Given the description of an element on the screen output the (x, y) to click on. 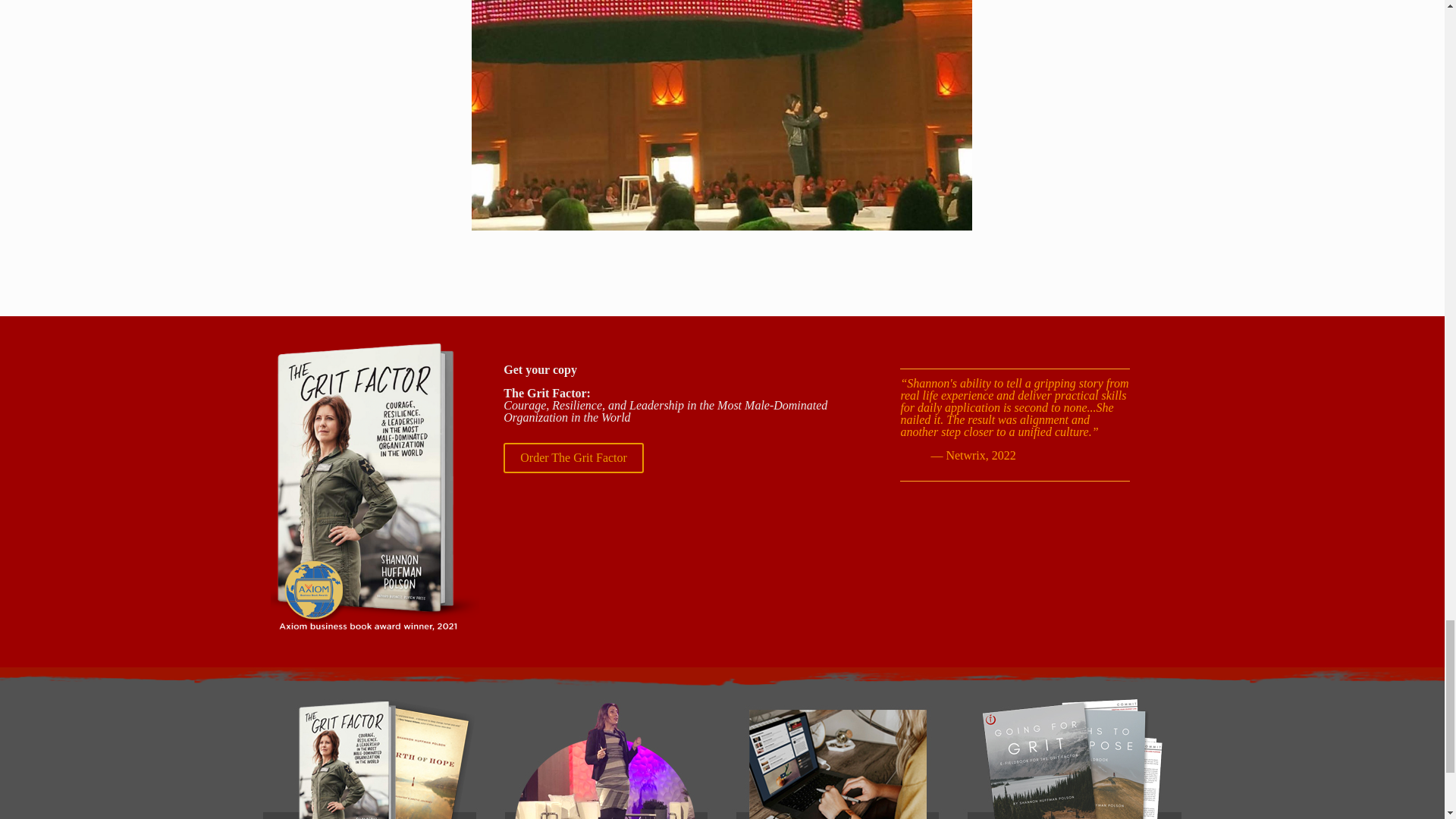
Order The Grit Factor (573, 458)
